Given the description of an element on the screen output the (x, y) to click on. 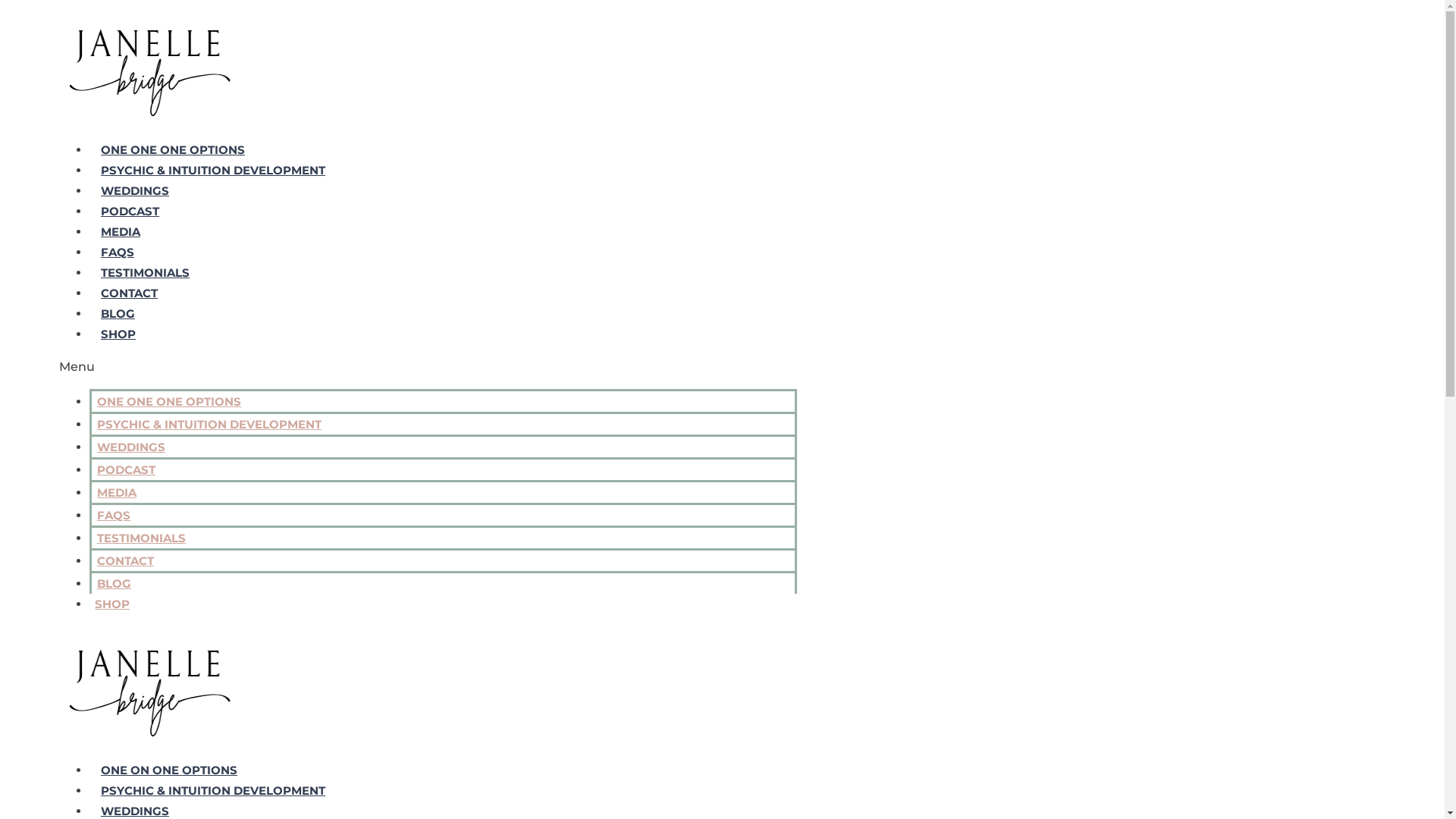
FAQS Element type: text (117, 251)
MEDIA Element type: text (120, 231)
ONE ONE ONE OPTIONS Element type: text (168, 401)
PSYCHIC & INTUITION DEVELOPMENT Element type: text (212, 170)
SHOP Element type: text (111, 603)
WEDDINGS Element type: text (130, 446)
PSYCHIC & INTUITION DEVELOPMENT Element type: text (212, 790)
TESTIMONIALS Element type: text (144, 272)
PODCAST Element type: text (125, 469)
BLOG Element type: text (117, 313)
FAQS Element type: text (113, 515)
PODCAST Element type: text (129, 210)
CONTACT Element type: text (125, 560)
SHOP Element type: text (118, 333)
BLOG Element type: text (113, 583)
ONE ONE ONE OPTIONS Element type: text (172, 149)
PSYCHIC & INTUITION DEVELOPMENT Element type: text (208, 424)
ONE ON ONE OPTIONS Element type: text (168, 769)
Skip to content Element type: text (6, 6)
TESTIMONIALS Element type: text (141, 537)
CONTACT Element type: text (129, 292)
WEDDINGS Element type: text (134, 810)
WEDDINGS Element type: text (134, 190)
MEDIA Element type: text (116, 492)
